Given the description of an element on the screen output the (x, y) to click on. 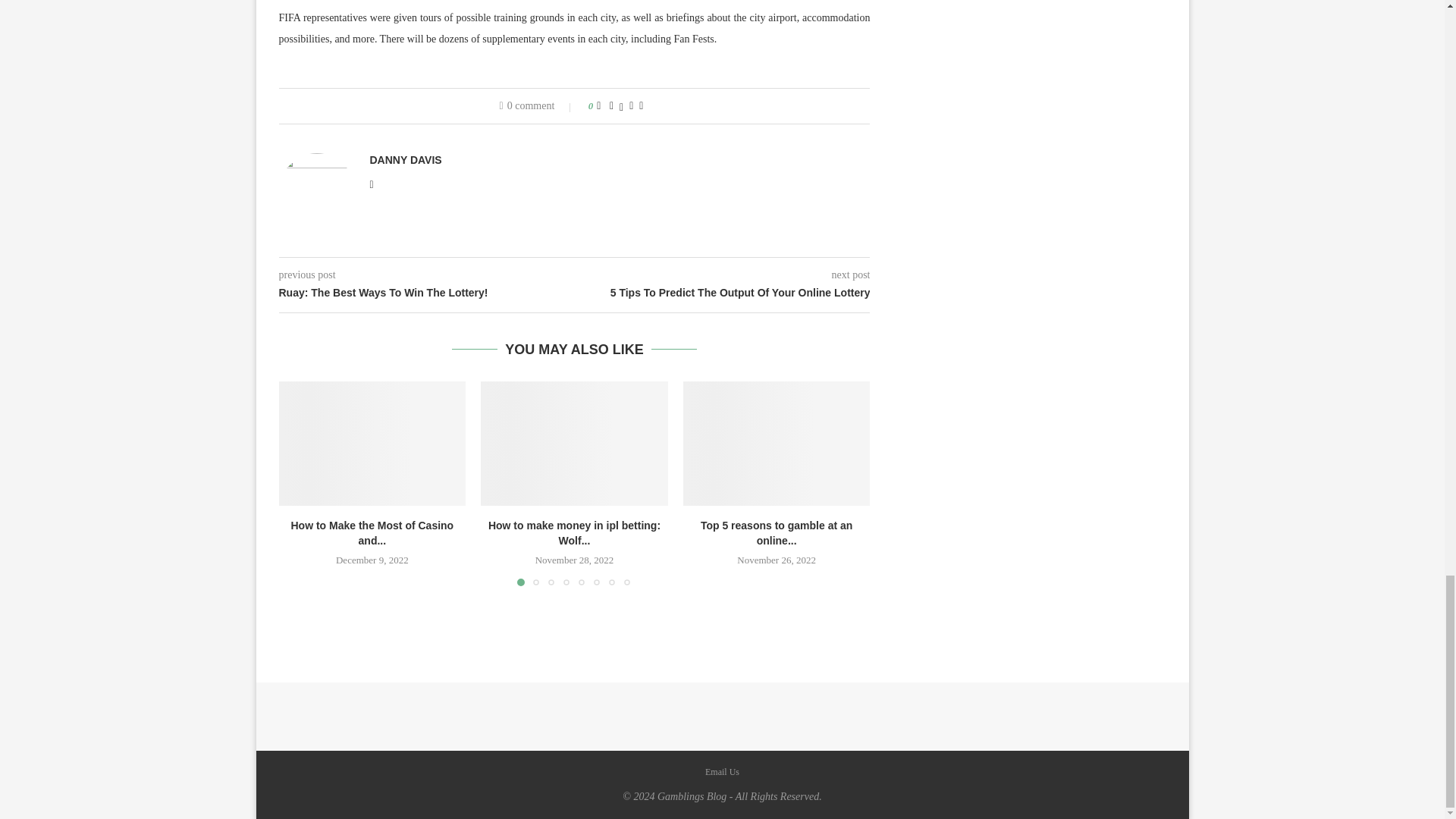
Top 5 reasons to gamble at an online casino (776, 443)
How to make money in ipl betting: Wolf 77 (574, 443)
Author Danny Davis (405, 160)
